Given the description of an element on the screen output the (x, y) to click on. 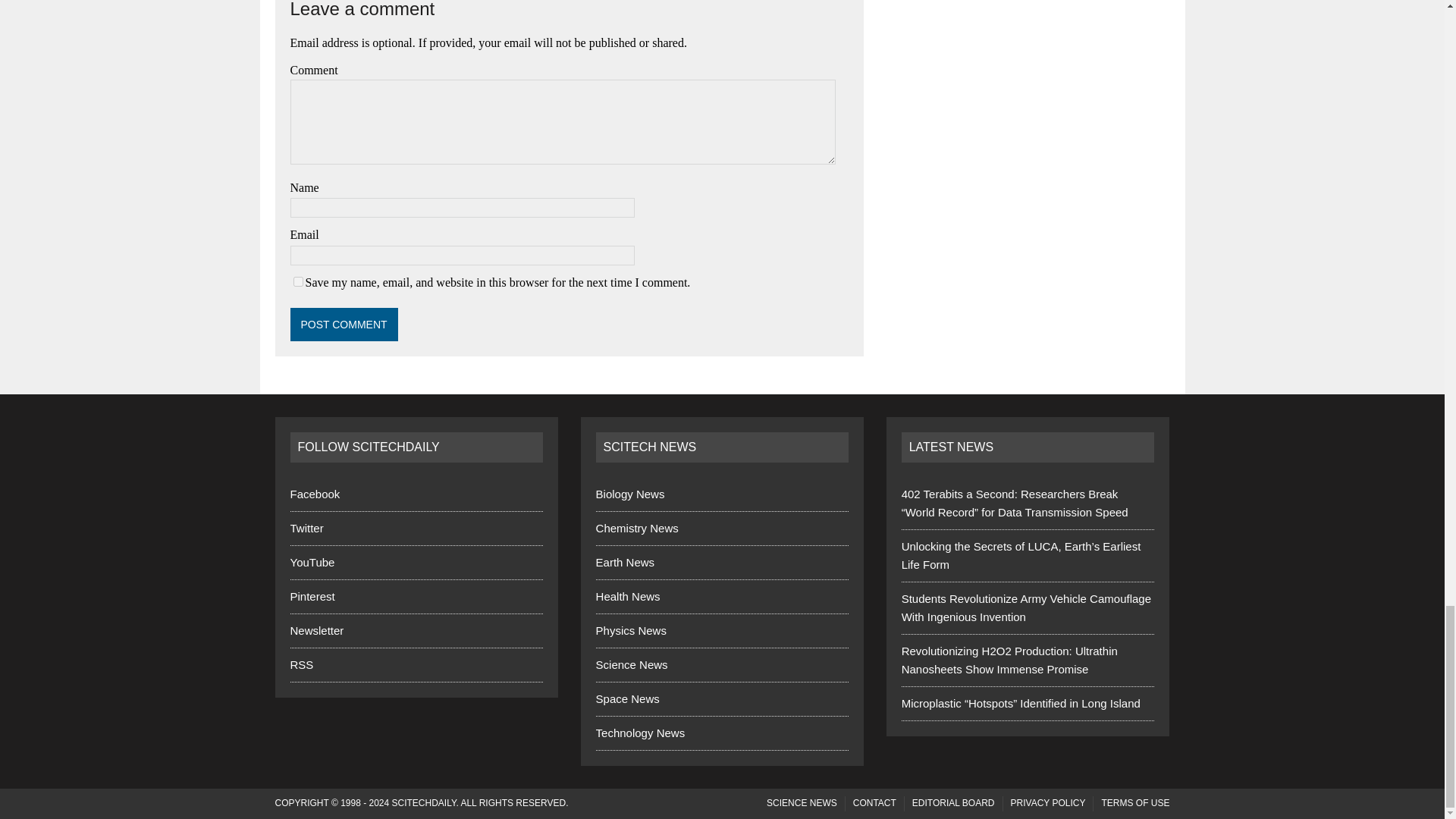
Post Comment (343, 324)
yes (297, 281)
